Given the description of an element on the screen output the (x, y) to click on. 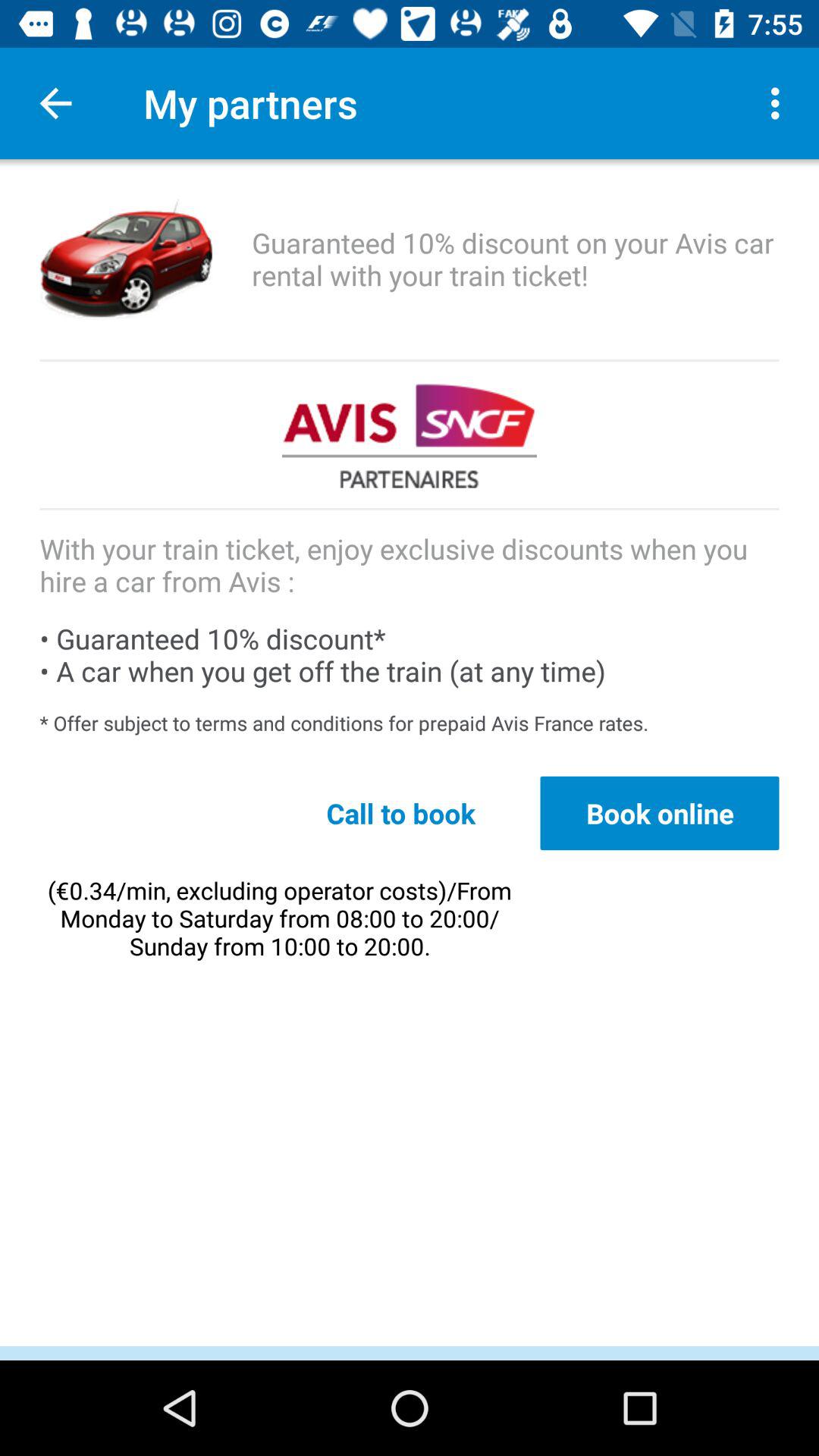
select the option book online (659, 813)
